Given the description of an element on the screen output the (x, y) to click on. 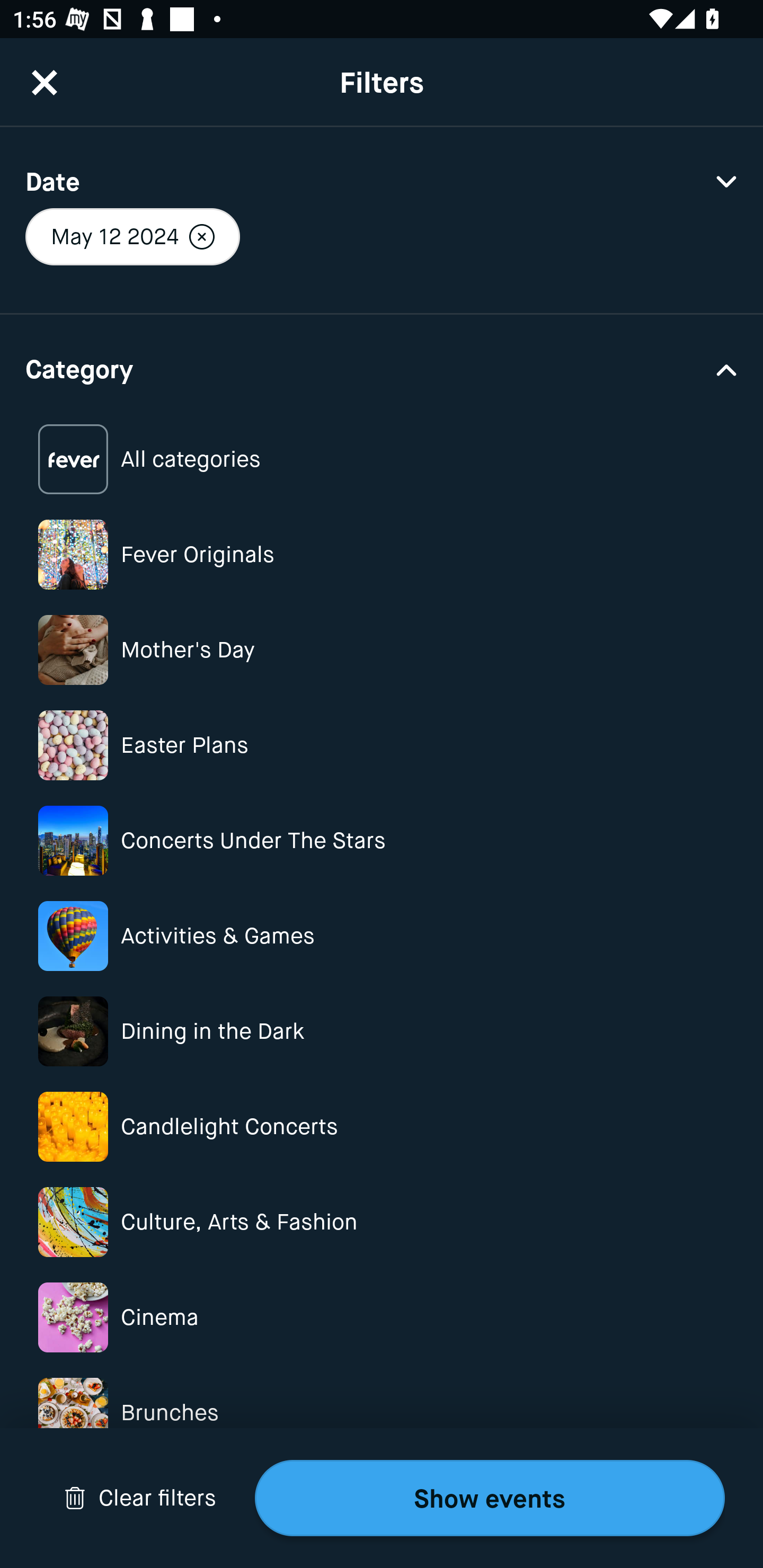
CloseButton (44, 82)
May 12 2024 Localized description (132, 236)
Category Drop Down Arrow (381, 368)
Category Image All categories (381, 459)
Category Image Fever Originals (381, 553)
Category Image Mother's Day (381, 649)
Category Image Easter Plans (381, 745)
Category Image Concerts Under The Stars (381, 840)
Category Image Activities & Games (381, 935)
Category Image Dining in the Dark (381, 1030)
Category Image Candlelight Concerts (381, 1126)
Category Image Culture, Arts & Fashion (381, 1221)
Category Image Cinema (381, 1317)
Category Image Brunches (381, 1412)
Drop Down Arrow Clear filters (139, 1497)
Show events (489, 1497)
